Given the description of an element on the screen output the (x, y) to click on. 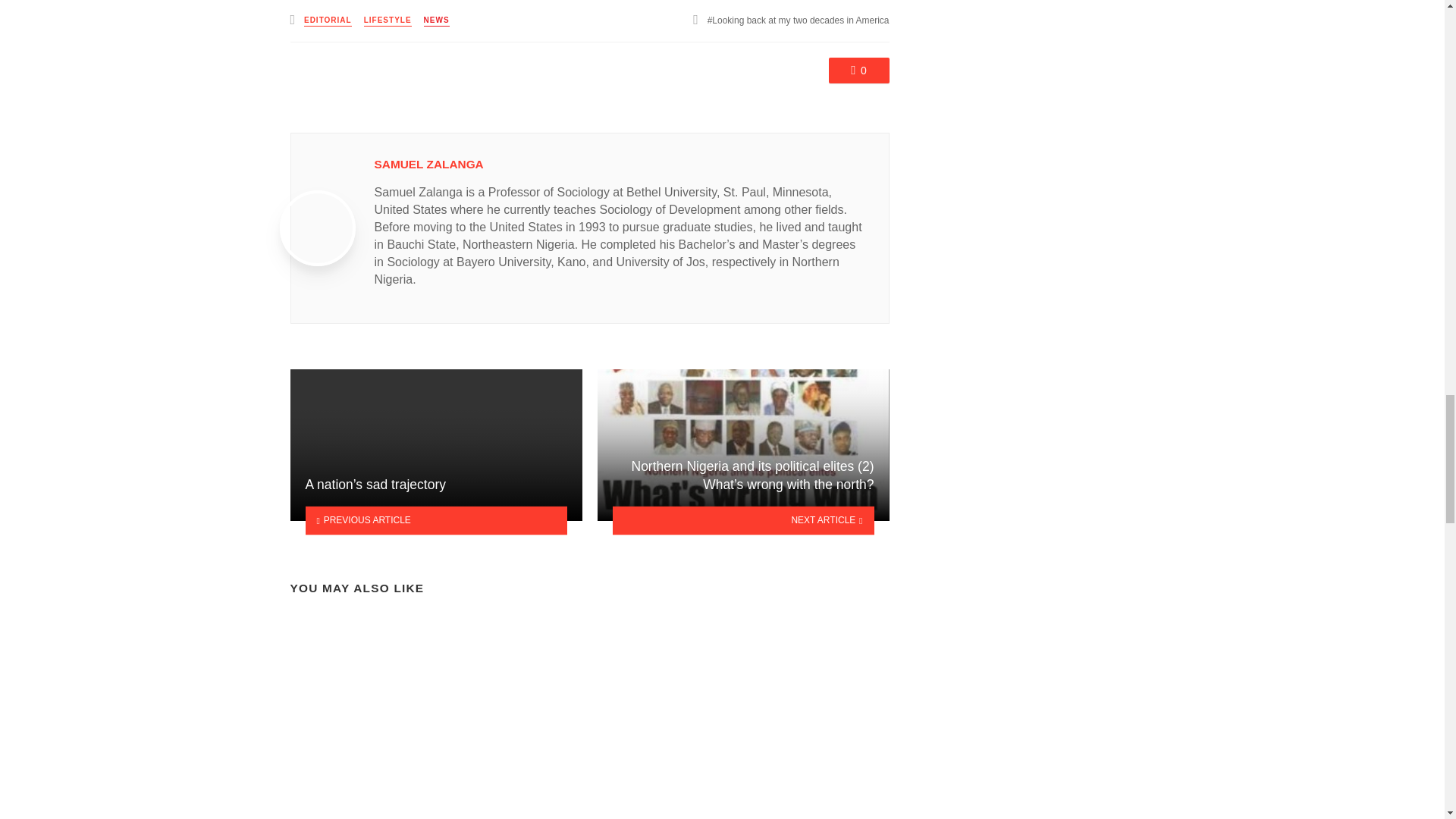
NEXT ARTICLE (742, 520)
0 (858, 70)
SAMUEL ZALANGA (428, 164)
NEWS (436, 20)
Posts by Samuel Zalanga (428, 164)
EDITORIAL (328, 20)
LIFESTYLE (388, 20)
PREVIOUS ARTICLE (434, 520)
Looking back at my two decades in America (798, 20)
